Given the description of an element on the screen output the (x, y) to click on. 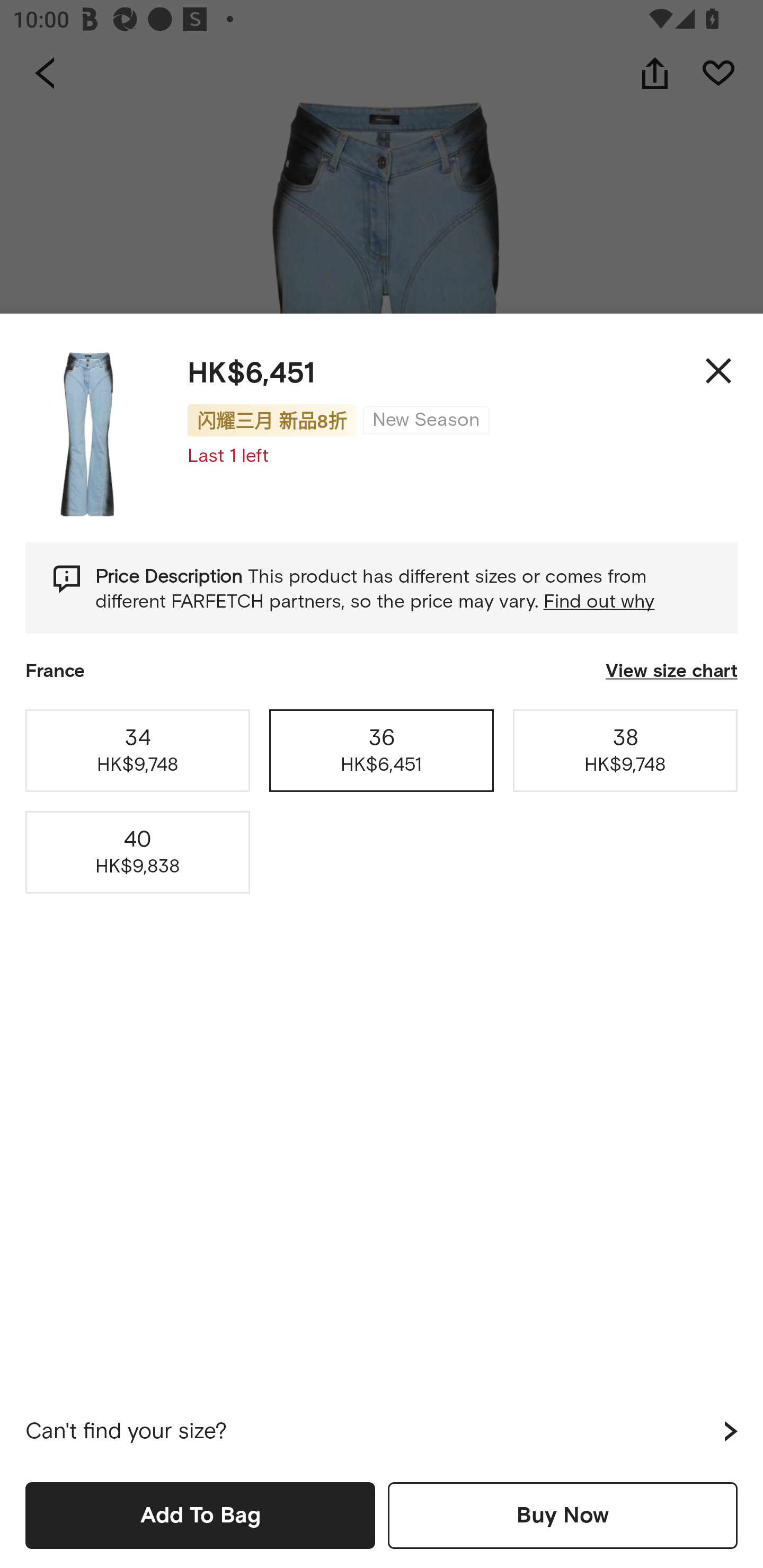
闪耀三月 新品8折 (271, 419)
34 HK$9,748 (137, 749)
36 HK$6,451 (381, 749)
38 HK$9,748 (624, 749)
40 HK$9,838 (137, 851)
Can't find your size? (381, 1431)
Add To Bag (200, 1515)
Buy Now (562, 1515)
